Given the description of an element on the screen output the (x, y) to click on. 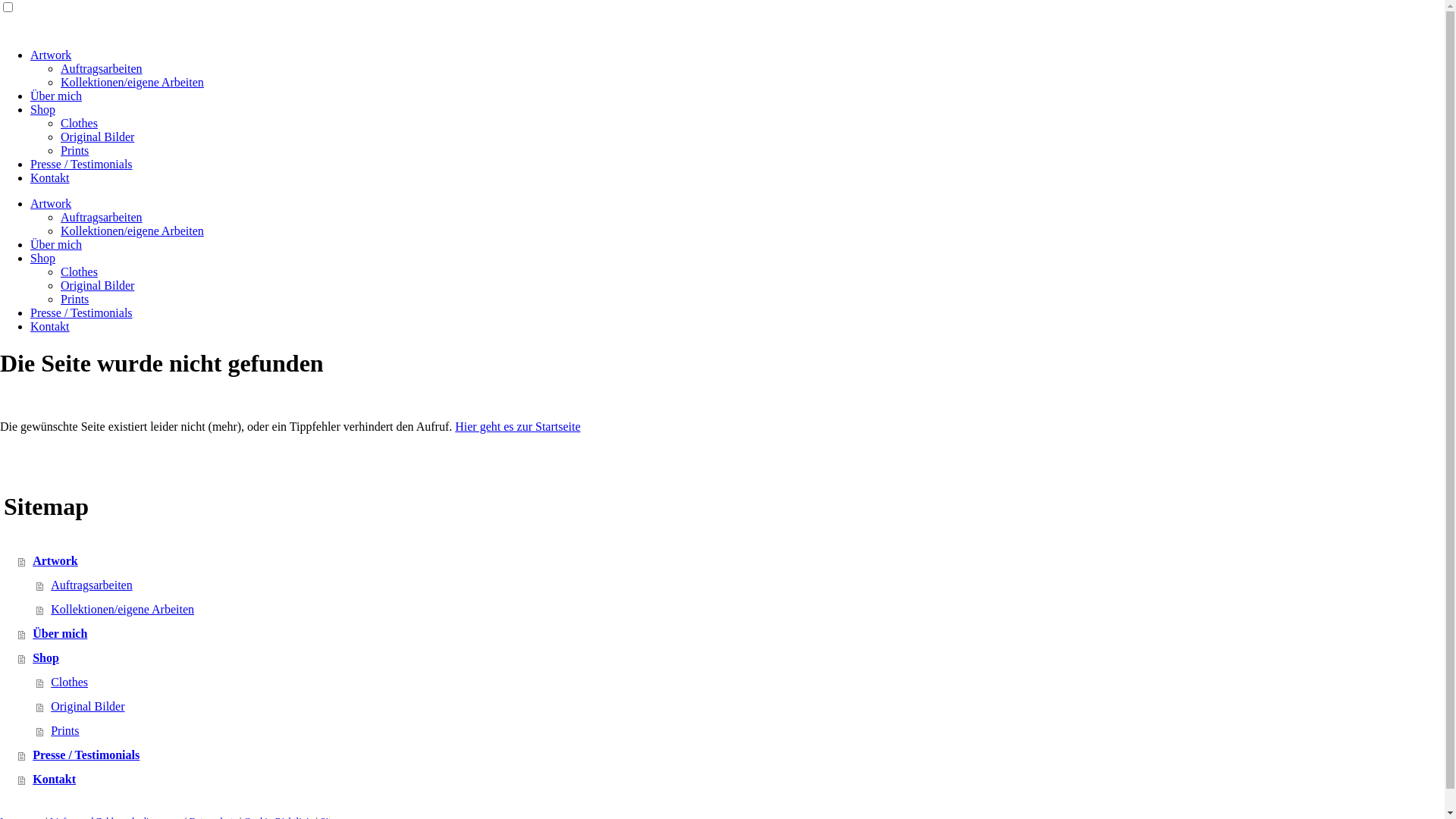
Hier geht es zur Startseite Element type: text (517, 426)
Prints Element type: text (740, 730)
Kollektionen/eigene Arbeiten Element type: text (131, 230)
Shop Element type: text (42, 109)
Presse / Testimonials Element type: text (81, 312)
Auftragsarbeiten Element type: text (101, 216)
Kontakt Element type: text (731, 779)
Shop Element type: text (731, 658)
Kontakt Element type: text (49, 177)
Original Bilder Element type: text (740, 706)
Auftragsarbeiten Element type: text (101, 68)
Kollektionen/eigene Arbeiten Element type: text (740, 609)
Original Bilder Element type: text (97, 285)
Artwork Element type: text (731, 561)
Artwork Element type: text (50, 54)
Auftragsarbeiten Element type: text (740, 585)
Prints Element type: text (74, 298)
Shop Element type: text (42, 257)
Kollektionen/eigene Arbeiten Element type: text (131, 81)
Presse / Testimonials Element type: text (81, 163)
Kontakt Element type: text (49, 326)
Original Bilder Element type: text (97, 136)
Clothes Element type: text (78, 271)
Clothes Element type: text (740, 682)
Prints Element type: text (74, 150)
Clothes Element type: text (78, 122)
Presse / Testimonials Element type: text (731, 755)
Artwork Element type: text (50, 203)
